Given the description of an element on the screen output the (x, y) to click on. 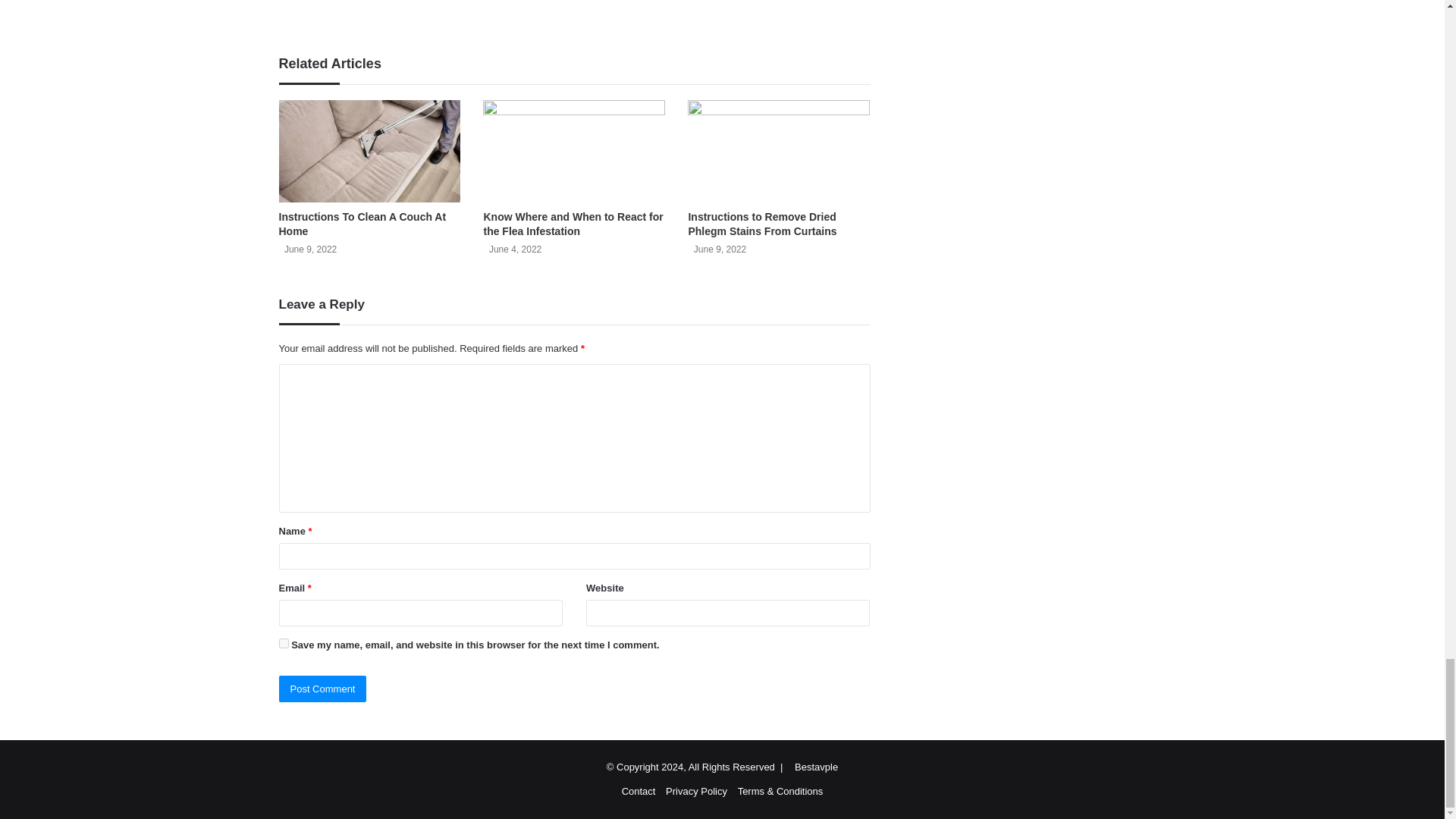
Website (386, 8)
yes (283, 643)
Post Comment (322, 688)
Instructions To Clean A Couch At Home (362, 223)
